Given the description of an element on the screen output the (x, y) to click on. 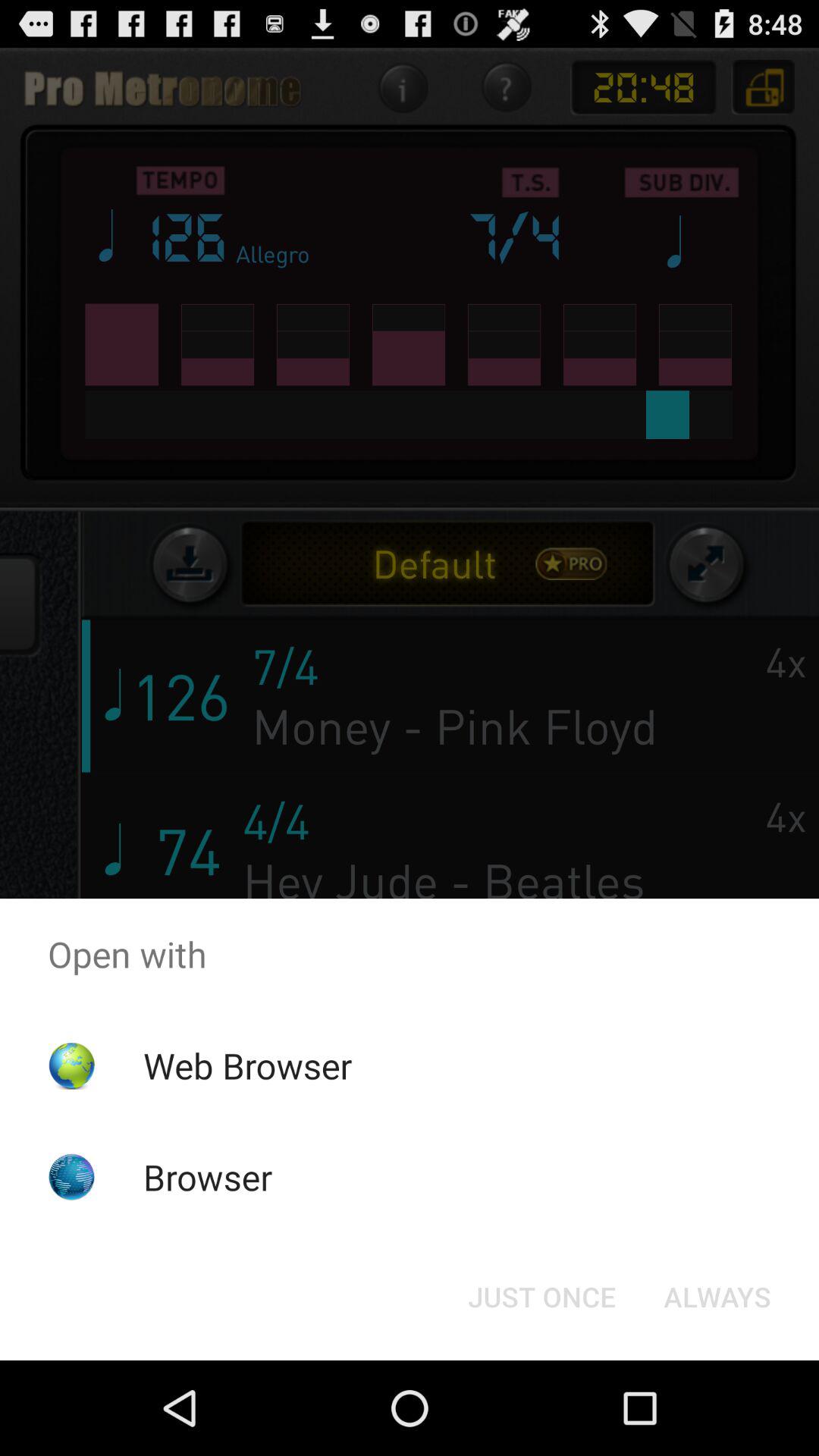
turn off the item at the bottom (541, 1296)
